Given the description of an element on the screen output the (x, y) to click on. 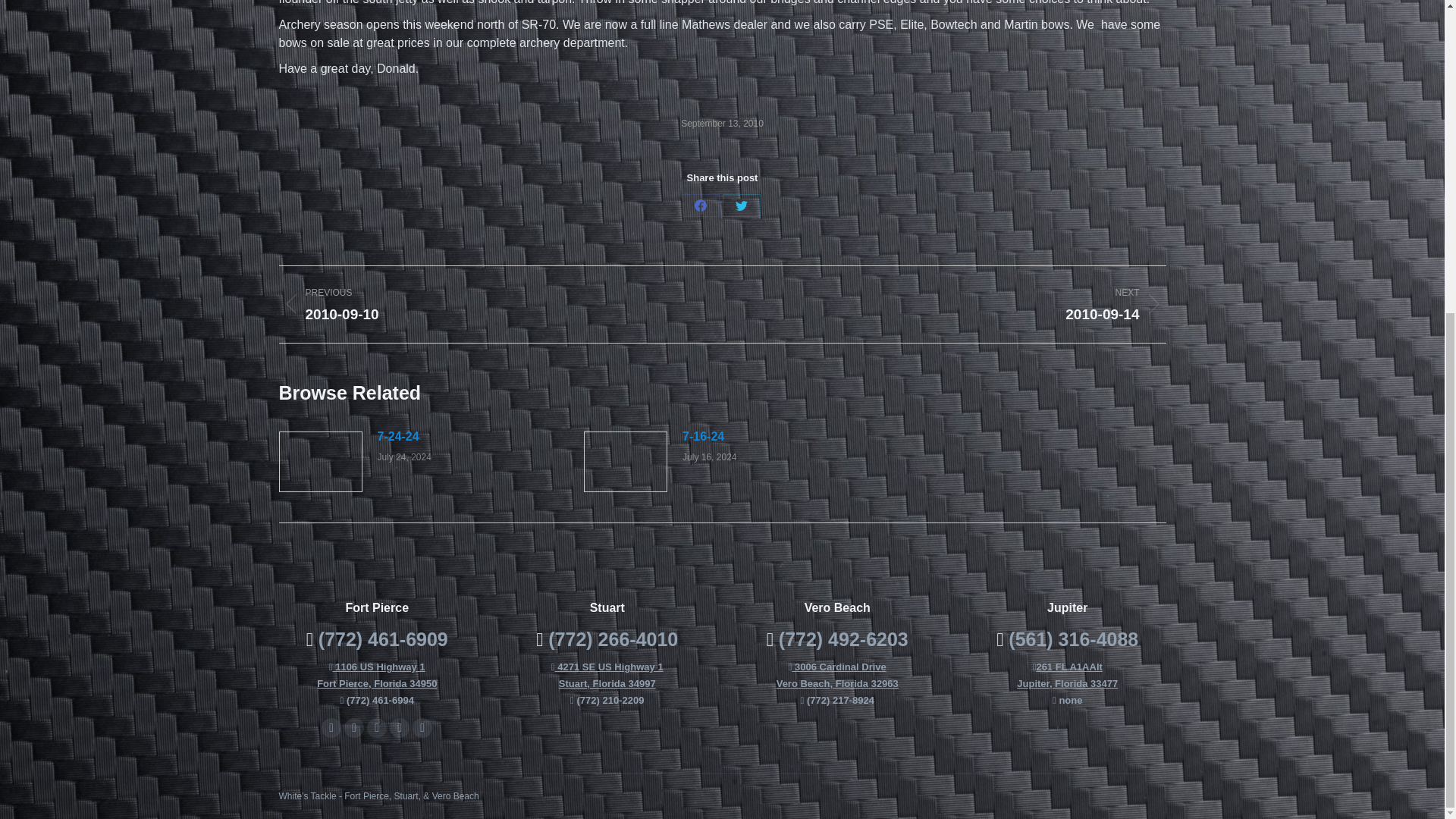
YouTube page opens in new window (608, 674)
Vimeo page opens in new window (353, 727)
Facebook page opens in new window (376, 727)
Facebook page opens in new window (330, 727)
Share on Facebook (330, 727)
Twitter (700, 205)
12:00 am (741, 205)
7-24-24 (721, 123)
YouTube page opens in new window (489, 304)
Mail page opens in new window (398, 436)
7-16-24 (353, 727)
Vimeo page opens in new window (422, 727)
